Given the description of an element on the screen output the (x, y) to click on. 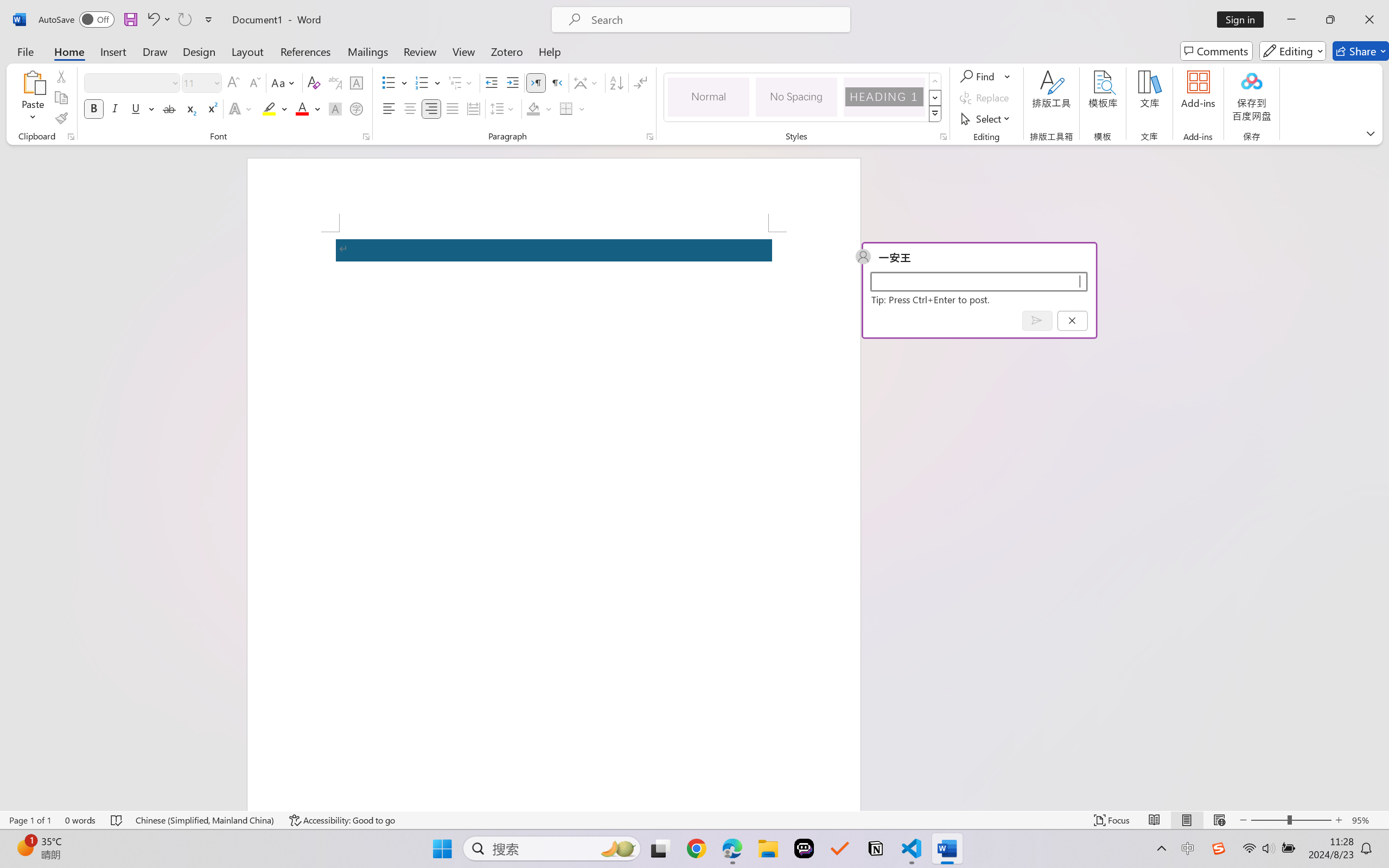
Font Color RGB(255, 0, 0) (302, 108)
Post comment (Ctrl + Enter) (1036, 320)
